Given the description of an element on the screen output the (x, y) to click on. 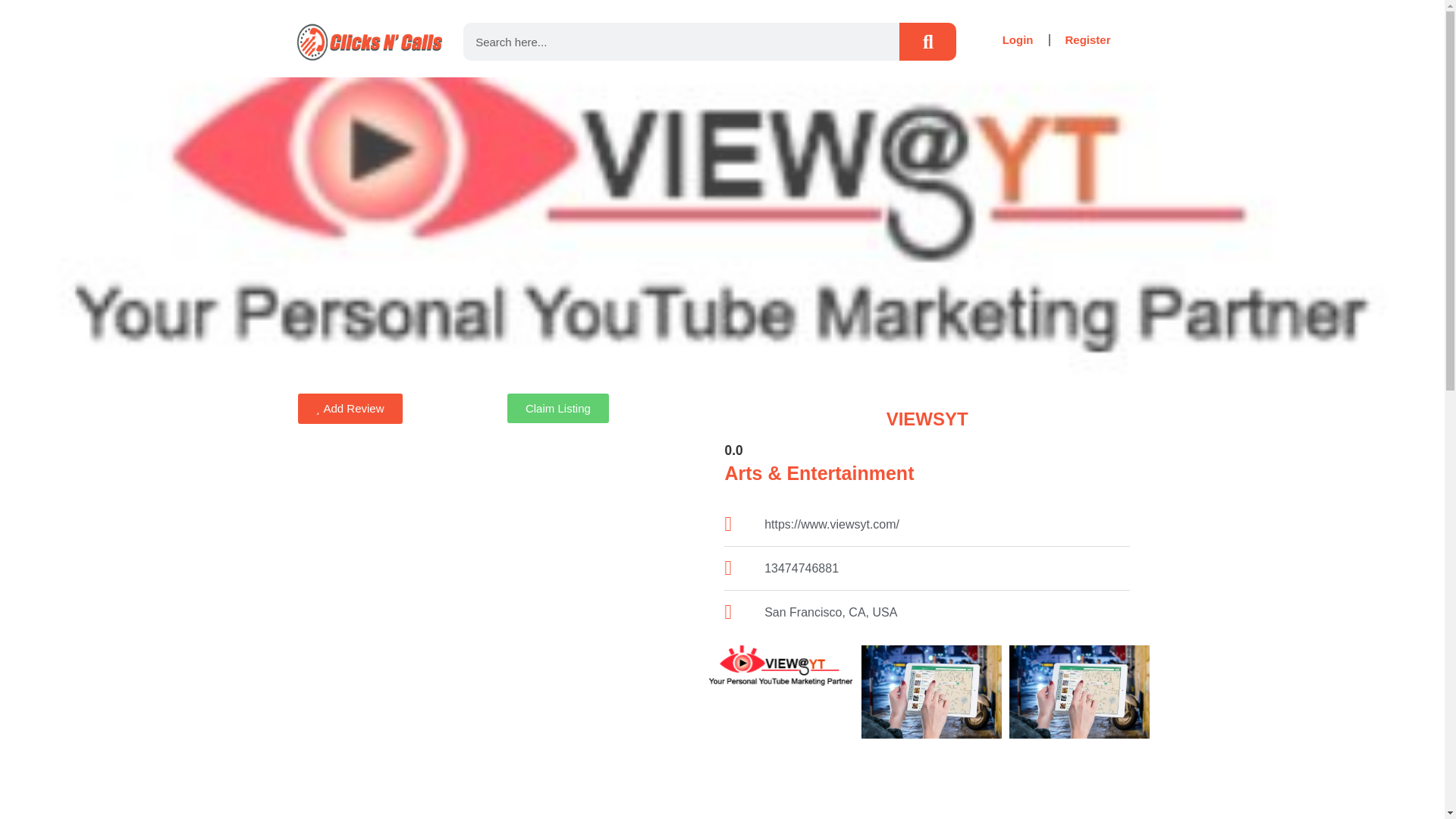
Login (1017, 39)
San Francisco, CA, USA (499, 576)
Claim Listing (557, 408)
Register (1087, 39)
Add Review (349, 408)
